Given the description of an element on the screen output the (x, y) to click on. 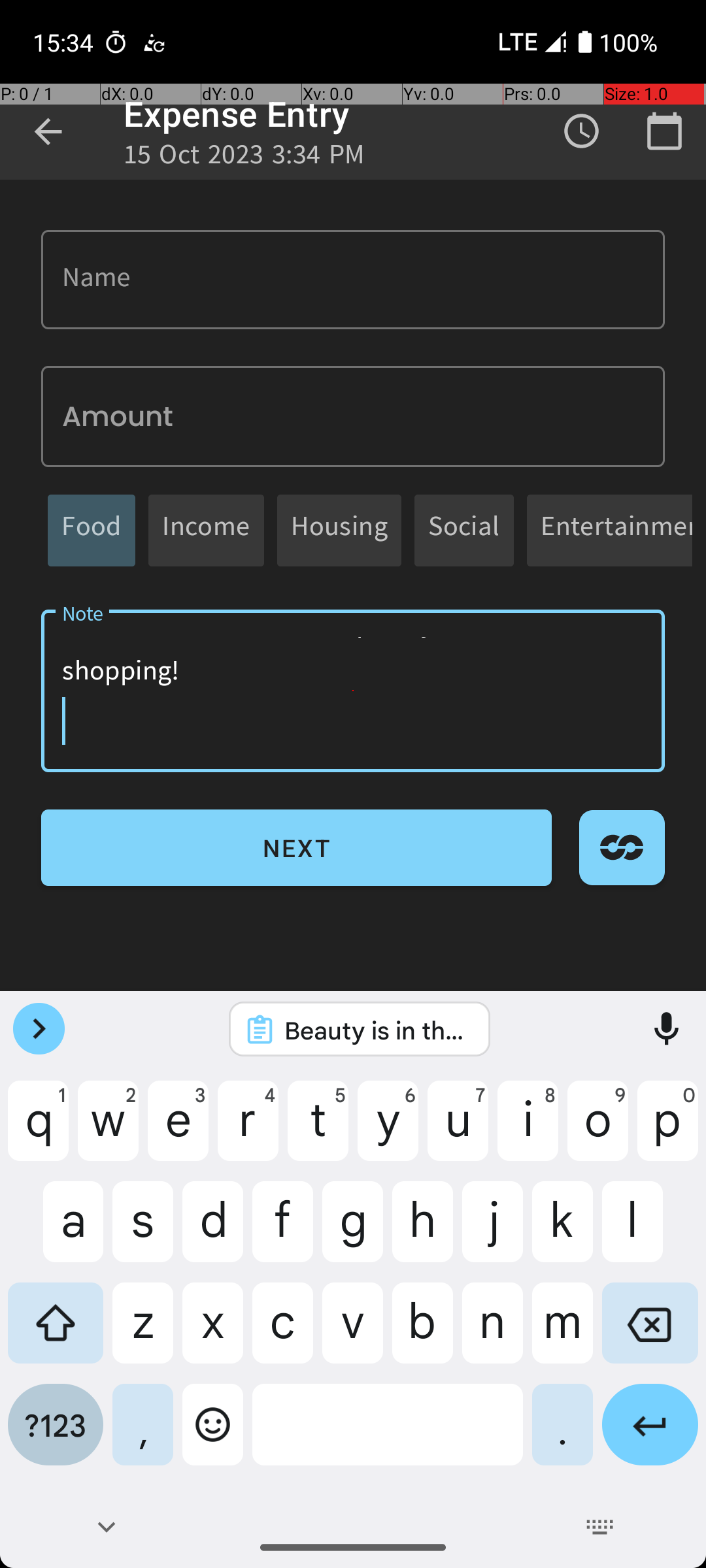
Don't forget to buy groceries for the week!
Remember to check the pantry before shopping!
 Element type: android.widget.EditText (352, 690)
NEXT Element type: android.widget.Button (296, 847)
Beauty is in the eye of the beholder. Element type: android.widget.TextView (376, 1029)
